Given the description of an element on the screen output the (x, y) to click on. 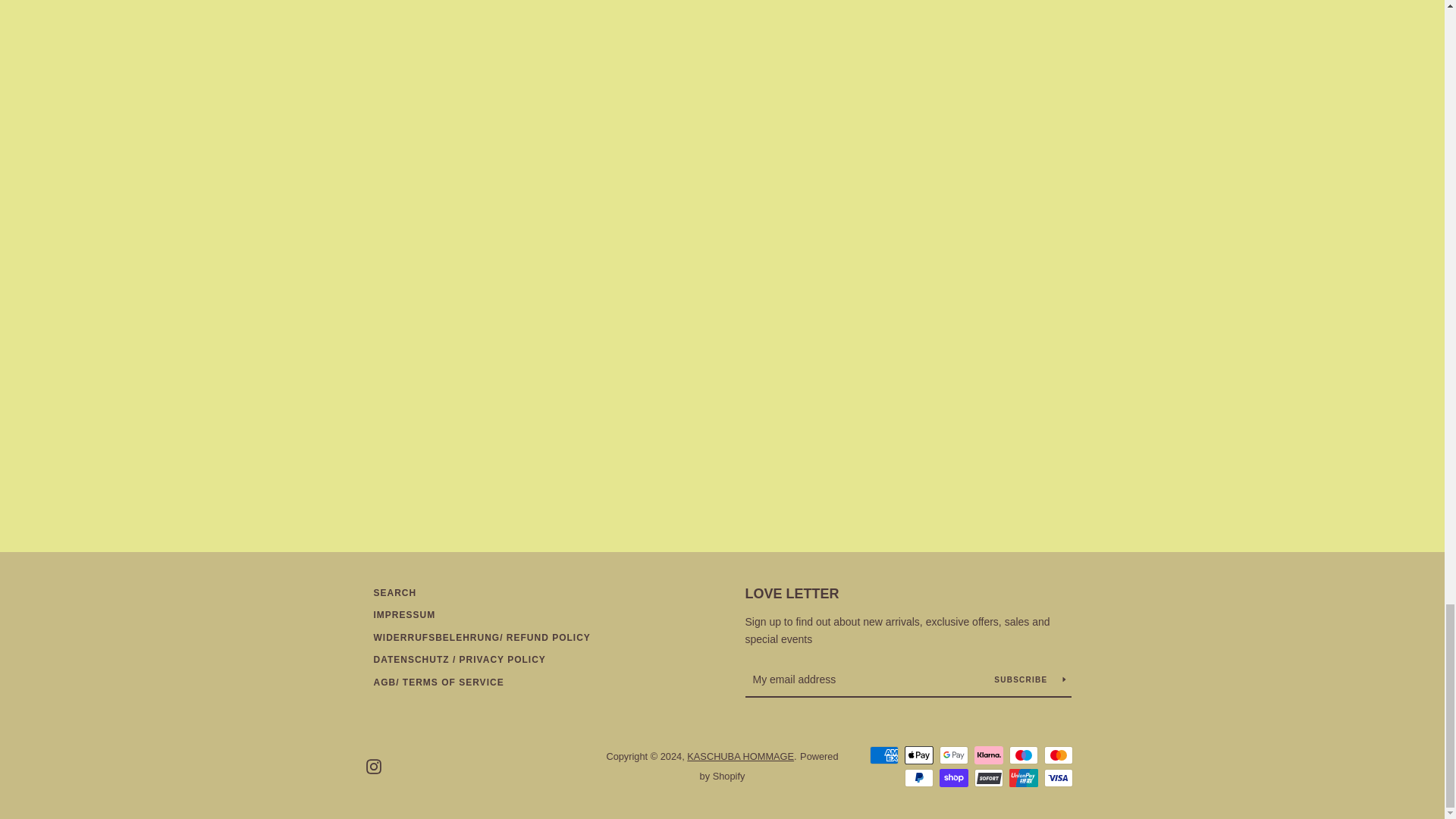
KASCHUBA HOMMAGE on Instagram (372, 765)
Klarna (988, 755)
SOFORT (988, 778)
Shop Pay (953, 778)
Mastercard (1057, 755)
Apple Pay (918, 755)
PayPal (918, 778)
Visa (1057, 778)
Maestro (1022, 755)
American Express (883, 755)
